Given the description of an element on the screen output the (x, y) to click on. 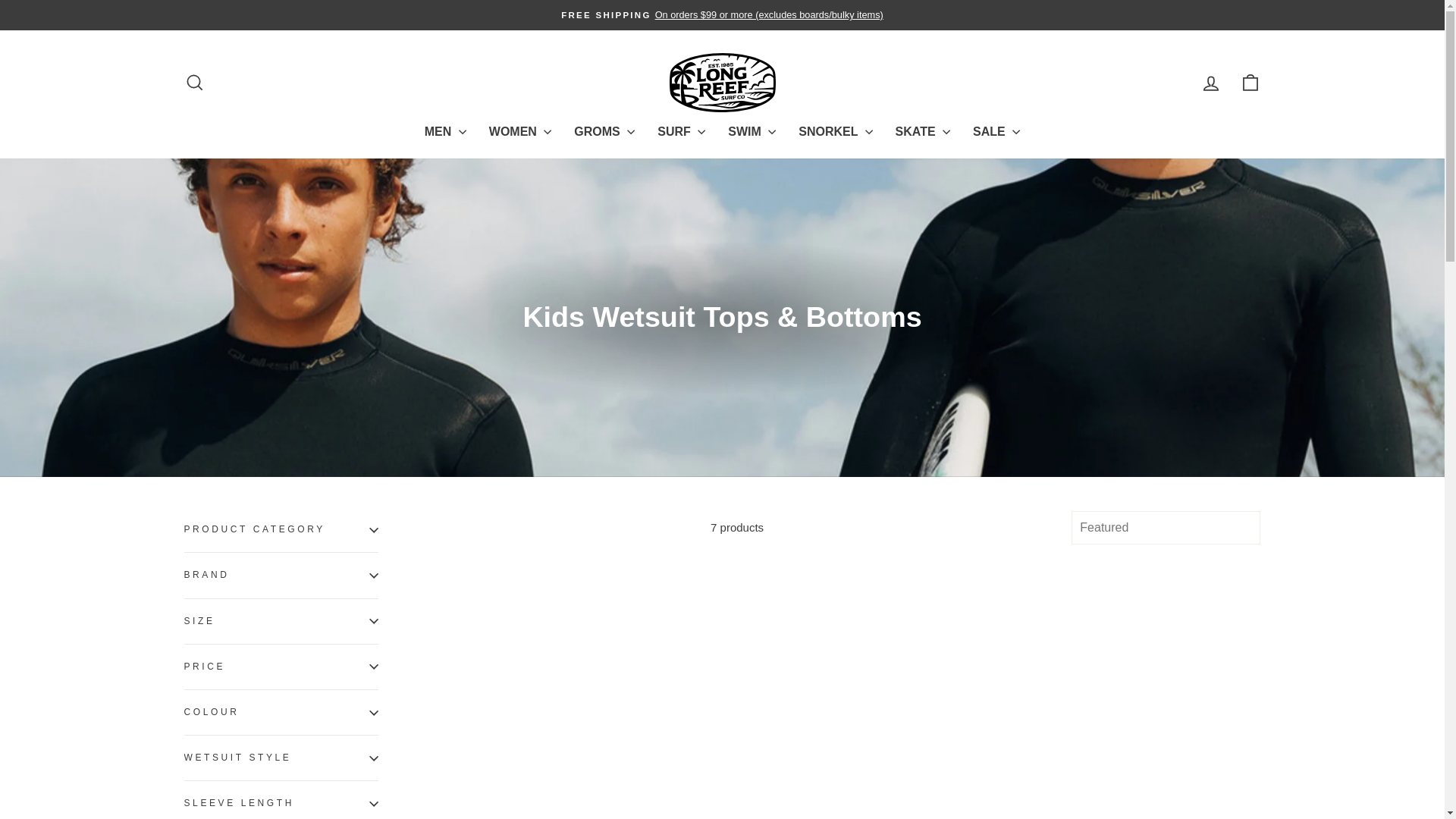
ACCOUNT (1210, 83)
ICON-SEARCH (194, 82)
ICON-BAG-MINIMAL (1249, 82)
